Given the description of an element on the screen output the (x, y) to click on. 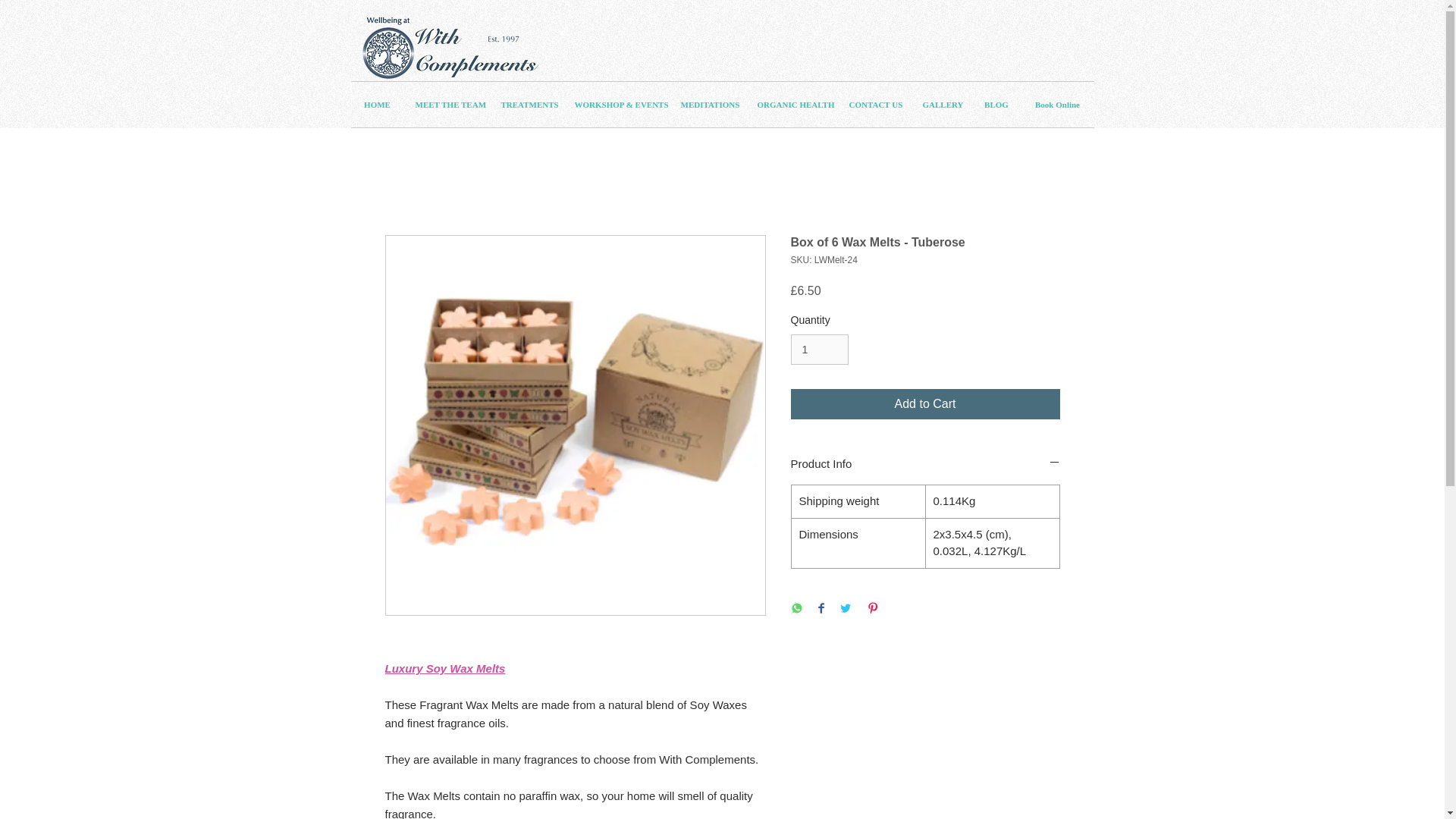
ORGANIC HEALTH (791, 104)
HOME (376, 104)
GALLERY (941, 104)
Book Online (1056, 104)
MEDITATIONS (706, 104)
CONTACT US (874, 104)
Product Info (924, 463)
TREATMENTS (526, 104)
BLOG (997, 104)
MEET THE TEAM (446, 104)
1 (818, 349)
Add to Cart (924, 404)
